Given the description of an element on the screen output the (x, y) to click on. 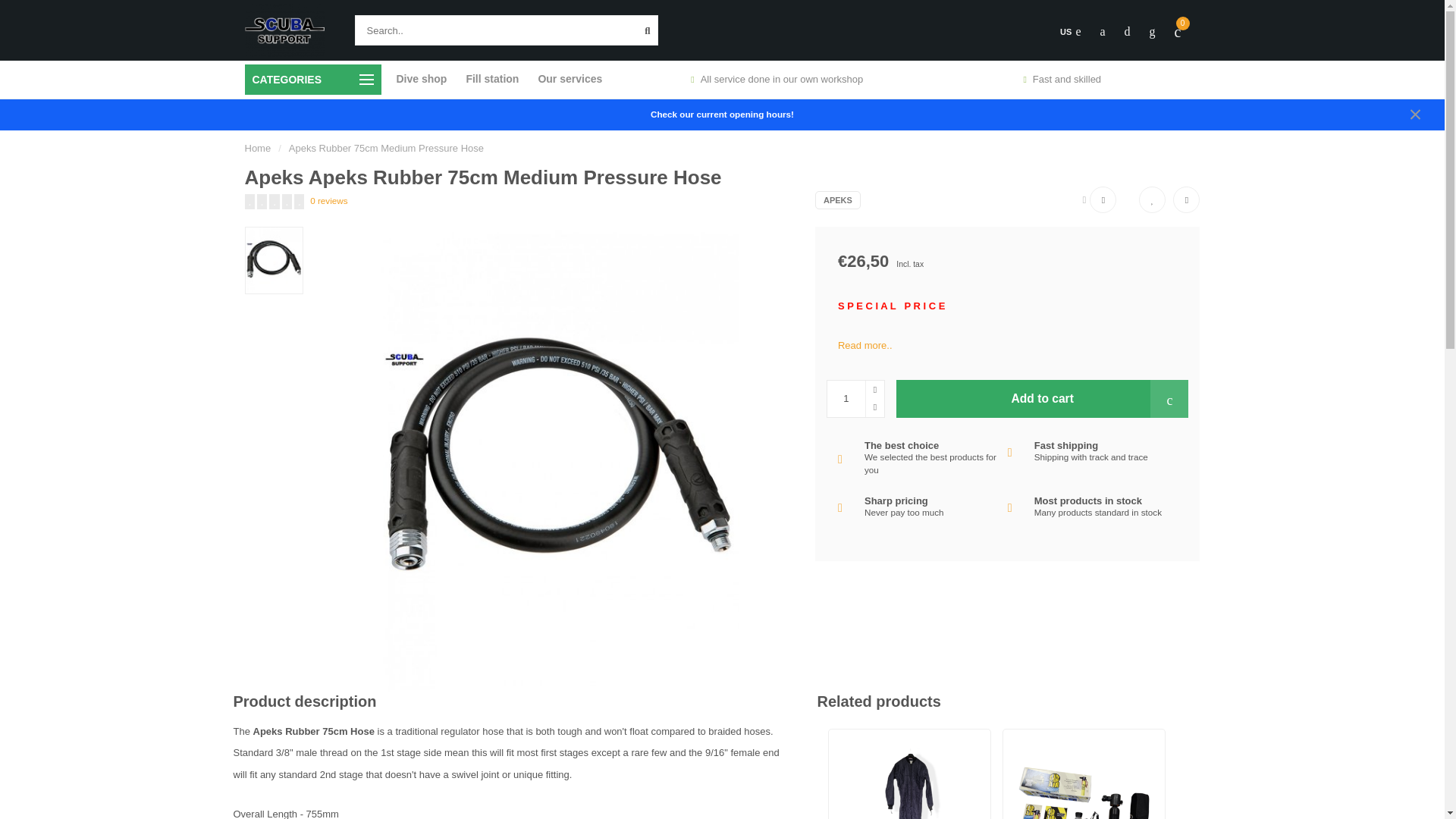
1 (855, 398)
US (1069, 31)
Home (257, 147)
